Given the description of an element on the screen output the (x, y) to click on. 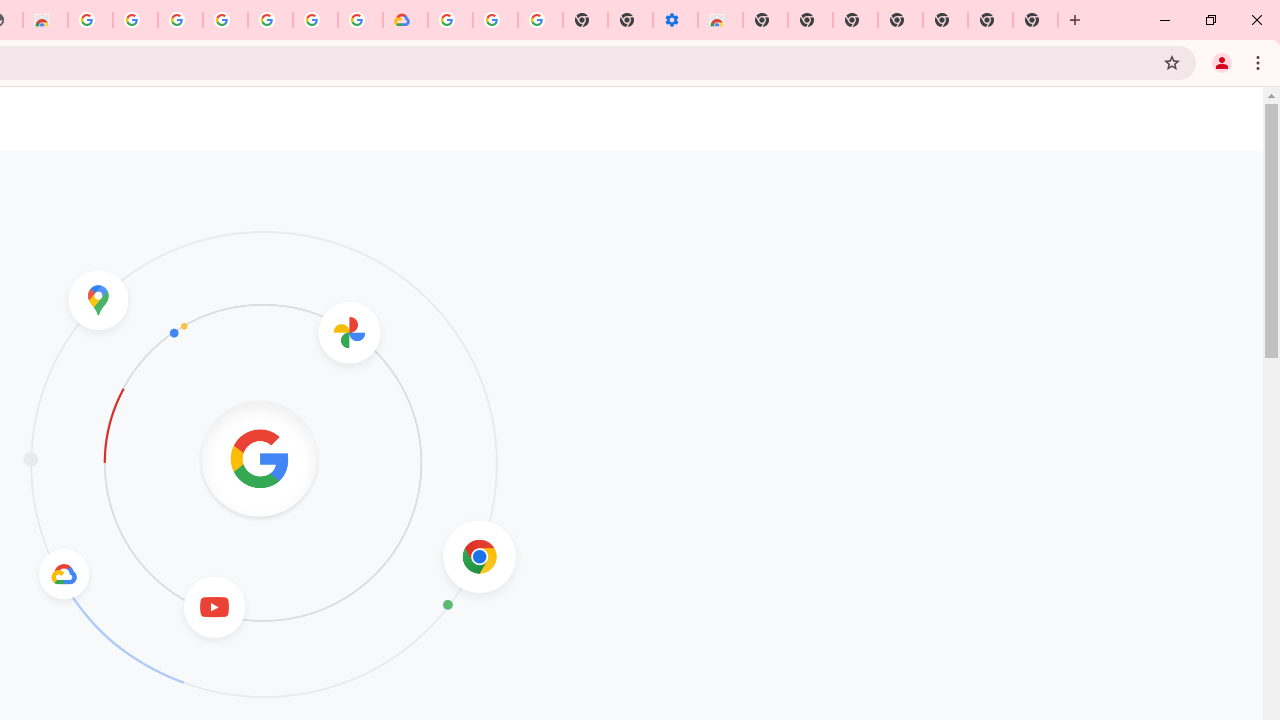
Settings - Accessibility (674, 20)
New Tab (944, 20)
New Tab (1035, 20)
Minimize (1165, 20)
Sign in - Google Accounts (315, 20)
Restore (1210, 20)
Sign in - Google Accounts (180, 20)
New Tab (765, 20)
Bookmark this tab (1171, 62)
Google Account Help (495, 20)
Sign in - Google Accounts (450, 20)
